Given the description of an element on the screen output the (x, y) to click on. 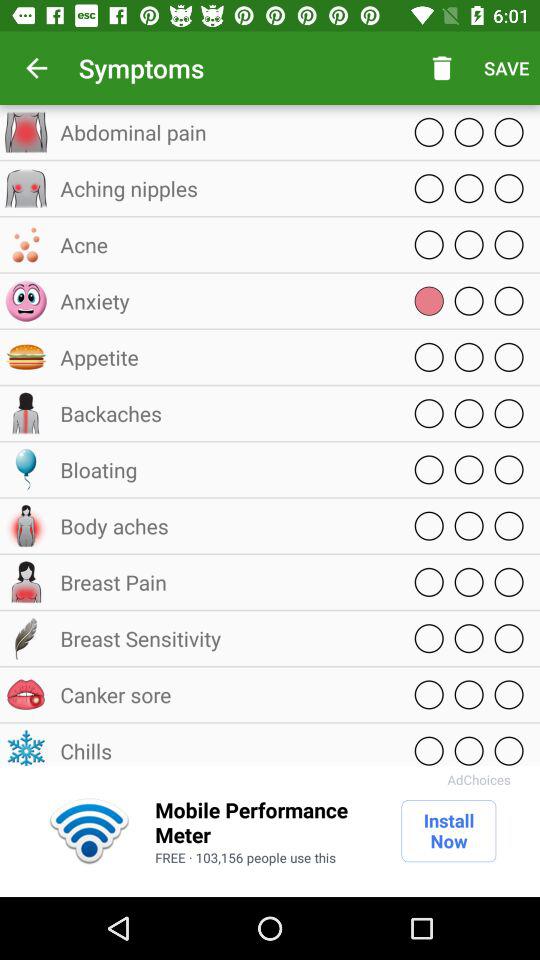
turn off the item next to chills icon (478, 779)
